Given the description of an element on the screen output the (x, y) to click on. 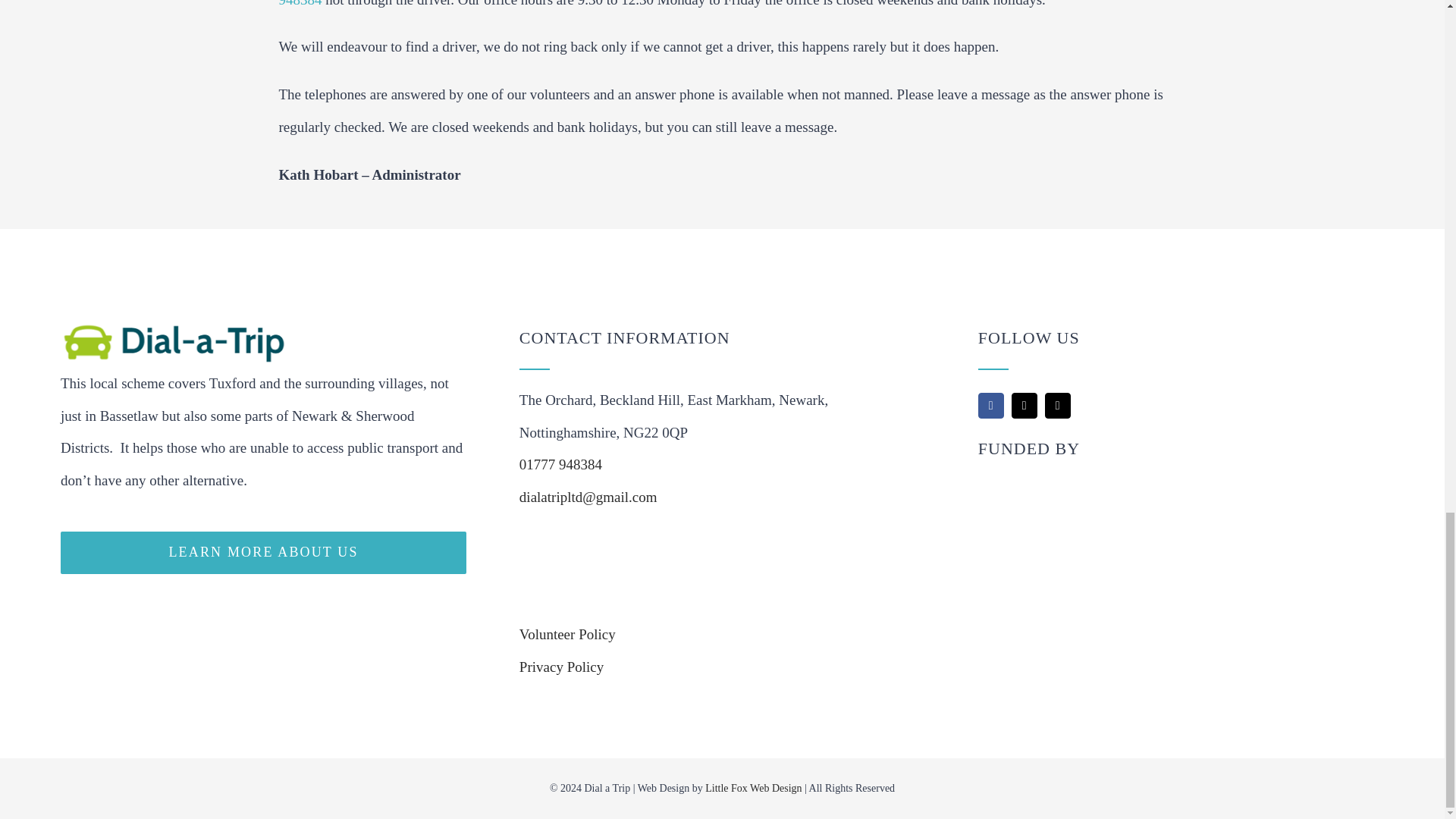
LEARN MORE ABOUT US (263, 552)
Privacy Policy (561, 666)
Little Fox Web Design (753, 787)
01777 948384 (560, 464)
Volunteer Policy (567, 634)
